Given the description of an element on the screen output the (x, y) to click on. 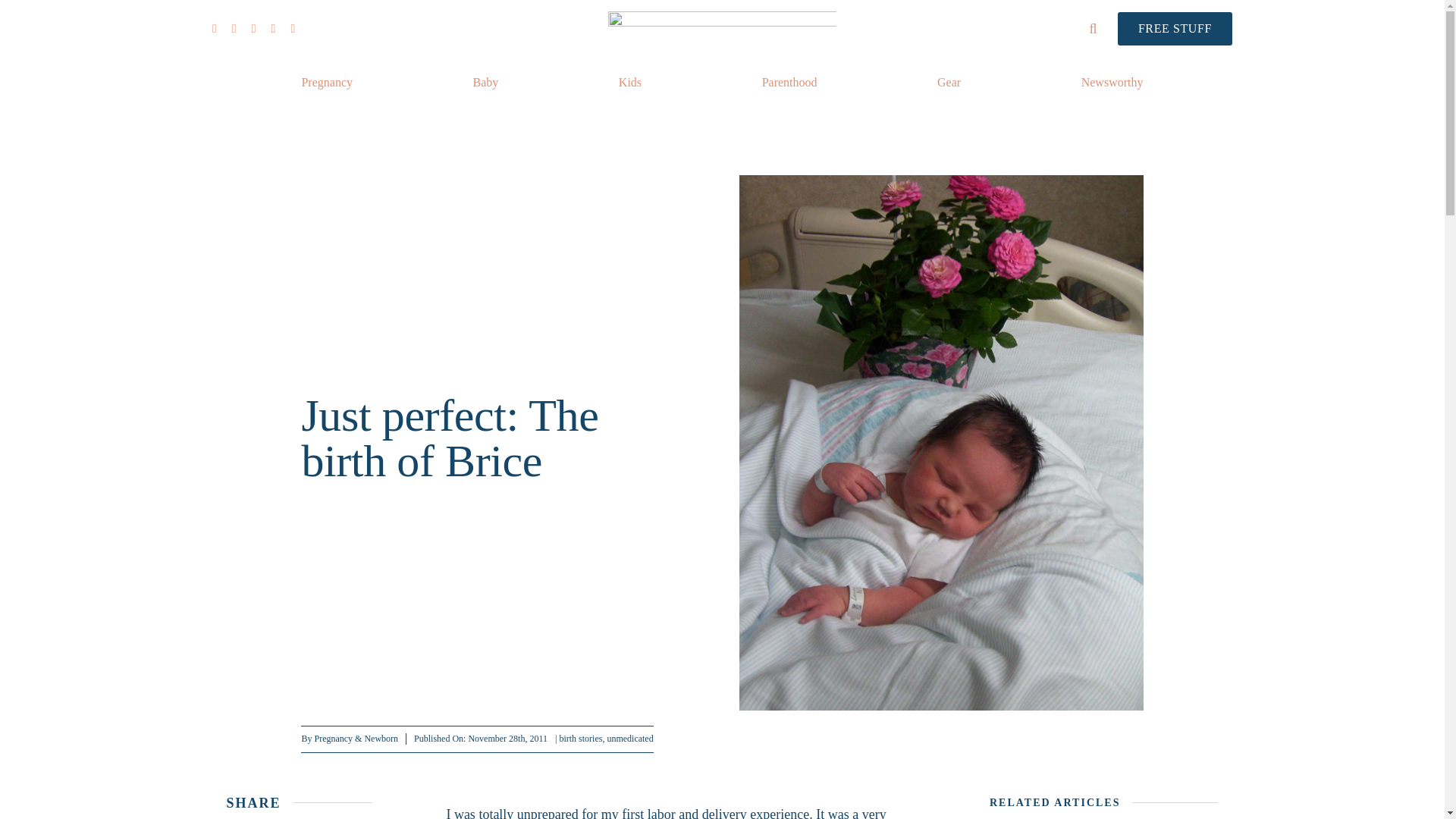
Pregnancy (326, 82)
FREE STUFF (1174, 28)
Parenthood (788, 82)
